Given the description of an element on the screen output the (x, y) to click on. 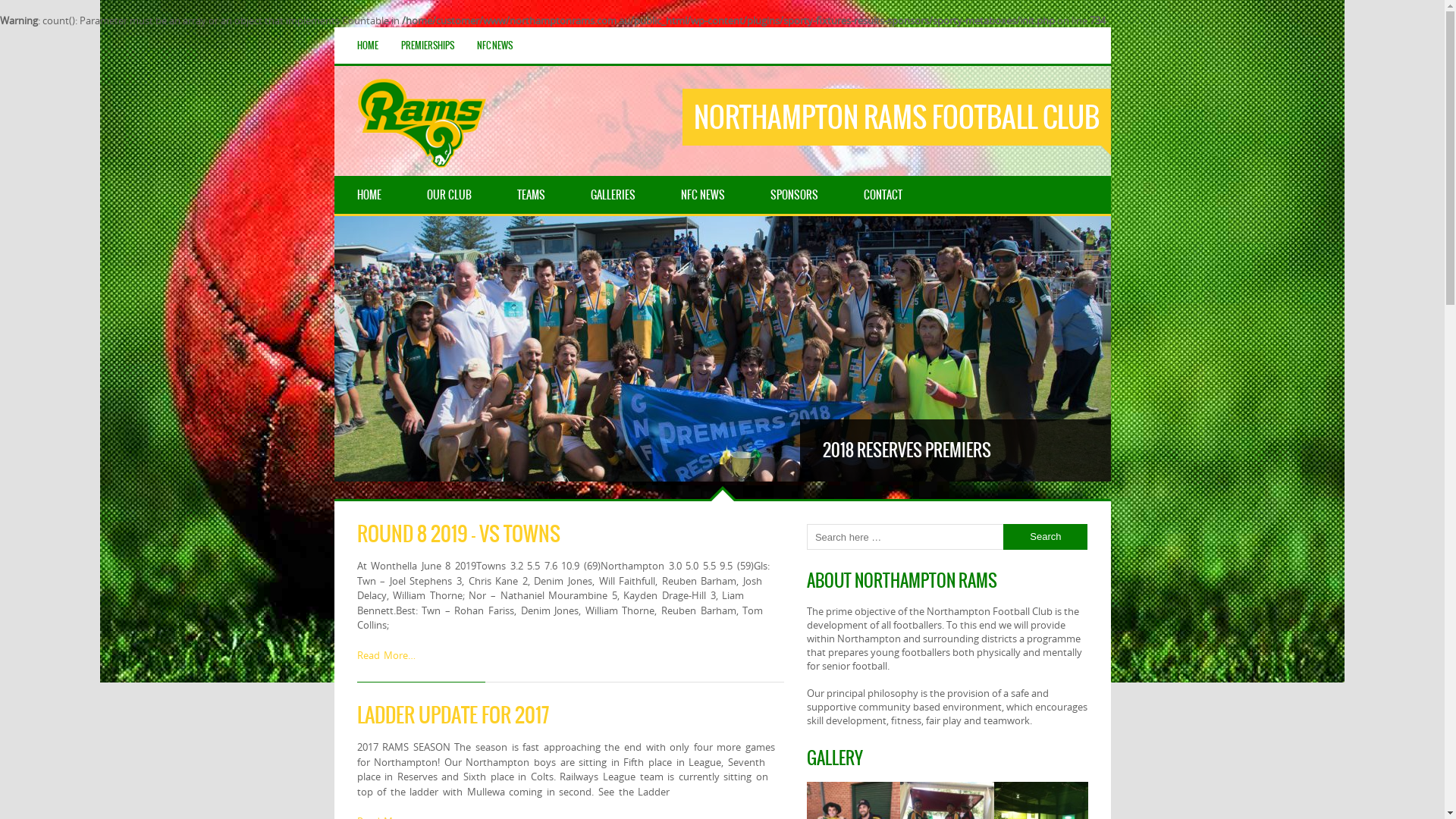
NFC NEWS Element type: text (494, 45)
HOME Element type: text (367, 45)
LADDER UPDATE FOR 2017 Element type: text (452, 714)
HOME Element type: text (368, 194)
PREMIERSHIPS Element type: text (427, 45)
TEAMS Element type: text (530, 194)
Search Element type: text (1045, 536)
NFC NEWS Element type: text (702, 194)
OUR CLUB Element type: text (448, 194)
SPONSORS Element type: text (793, 194)
GALLERIES Element type: text (612, 194)
CONTACT Element type: text (882, 194)
